Given the description of an element on the screen output the (x, y) to click on. 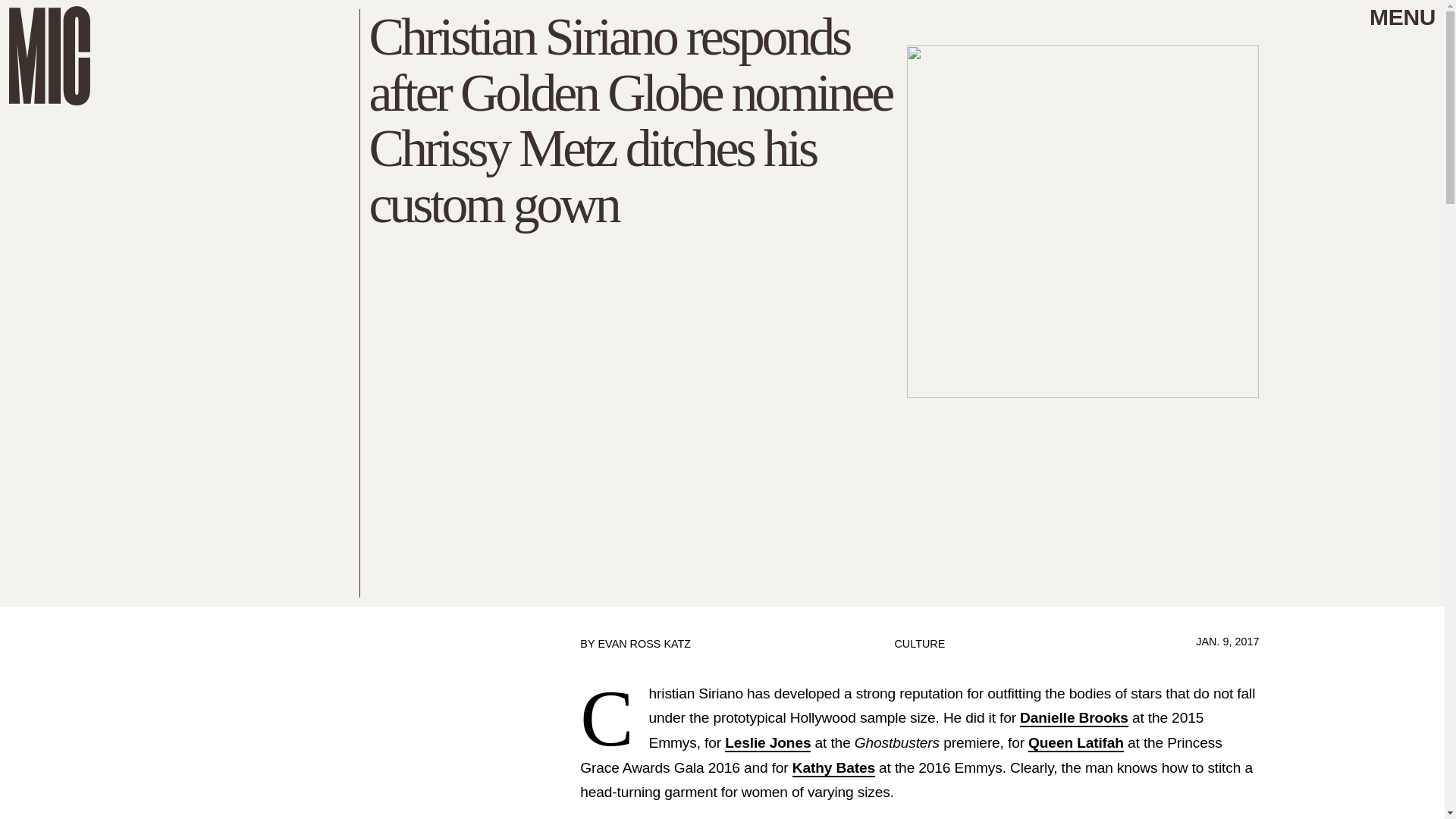
Kathy Bates (833, 768)
Danielle Brooks (1074, 718)
EVAN ROSS KATZ (643, 644)
Leslie Jones (767, 743)
Queen Latifah (1075, 743)
